Given the description of an element on the screen output the (x, y) to click on. 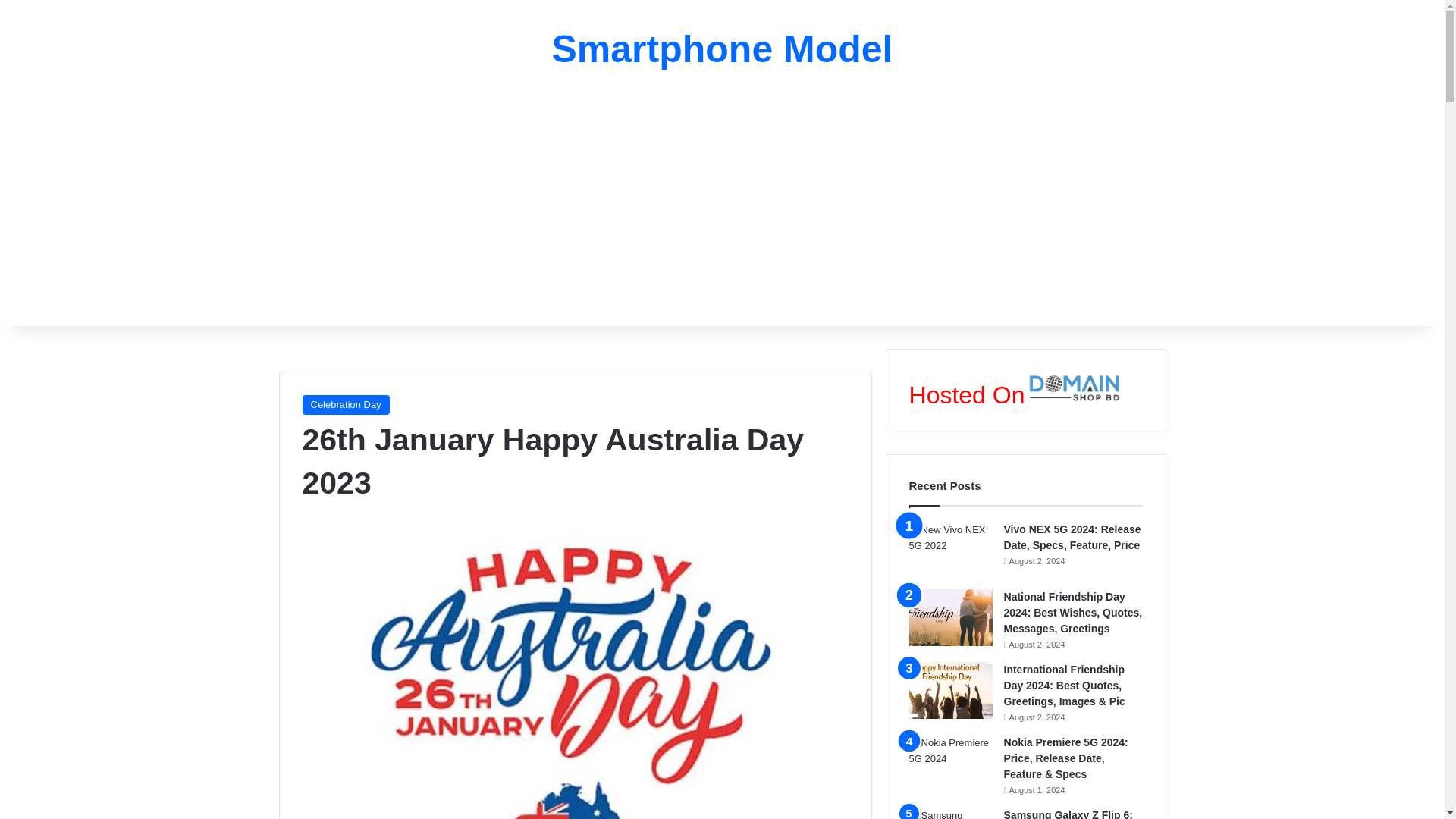
Smartphone Model (721, 48)
Celebration Day (344, 404)
Smartphone Model (721, 48)
